Given the description of an element on the screen output the (x, y) to click on. 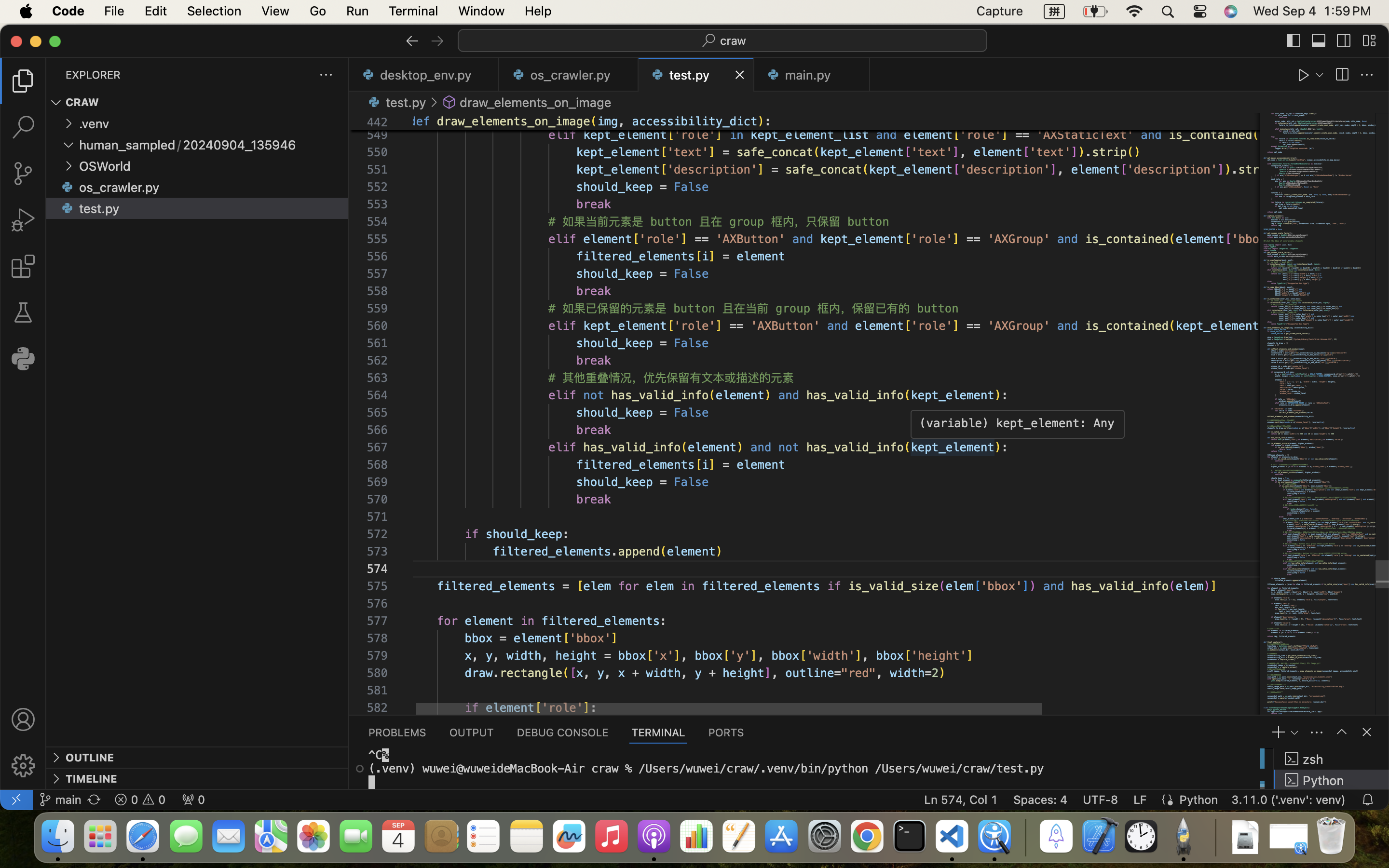
accessibility_dict Element type: AXStaticText (694, 121)
 Element type: AXStaticText (55, 101)
Python  Element type: AXGroup (1331, 778)
OUTLINE Element type: AXStaticText (89, 757)
 Element type: AXStaticText (1366, 74)
